Given the description of an element on the screen output the (x, y) to click on. 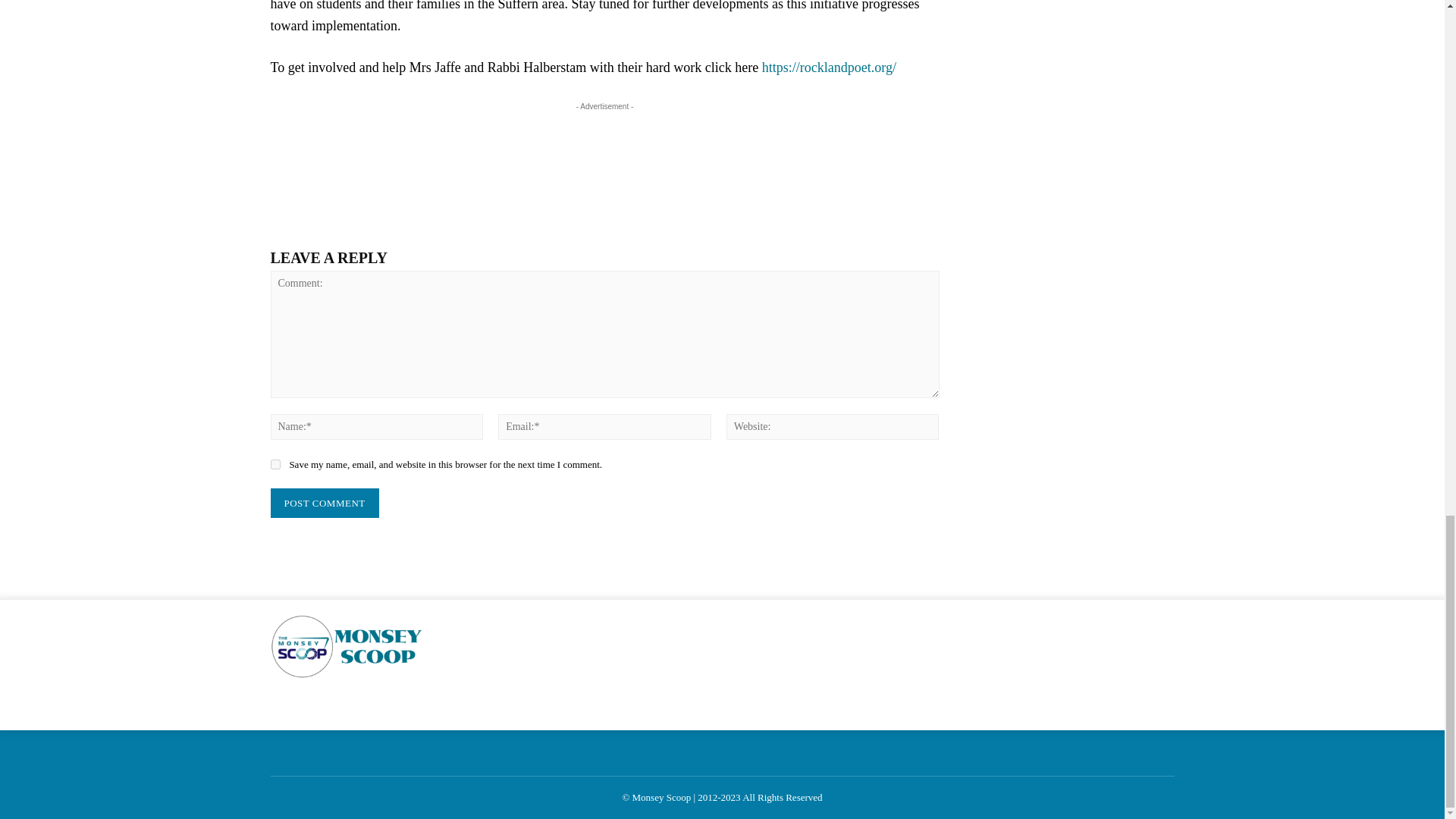
Post Comment (323, 503)
yes (274, 464)
